Given the description of an element on the screen output the (x, y) to click on. 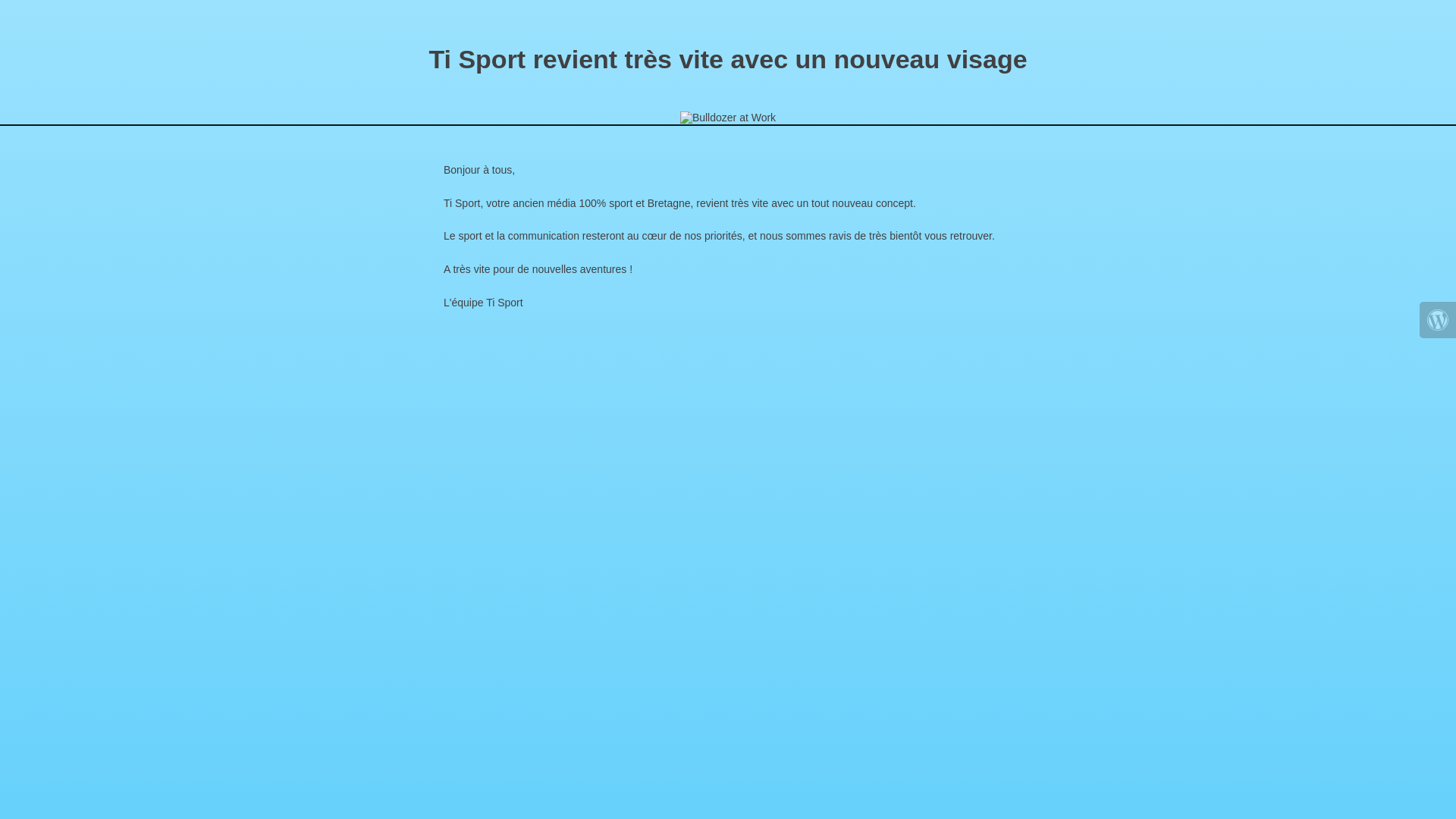
Bulldozer at Work Element type: hover (727, 117)
